Given the description of an element on the screen output the (x, y) to click on. 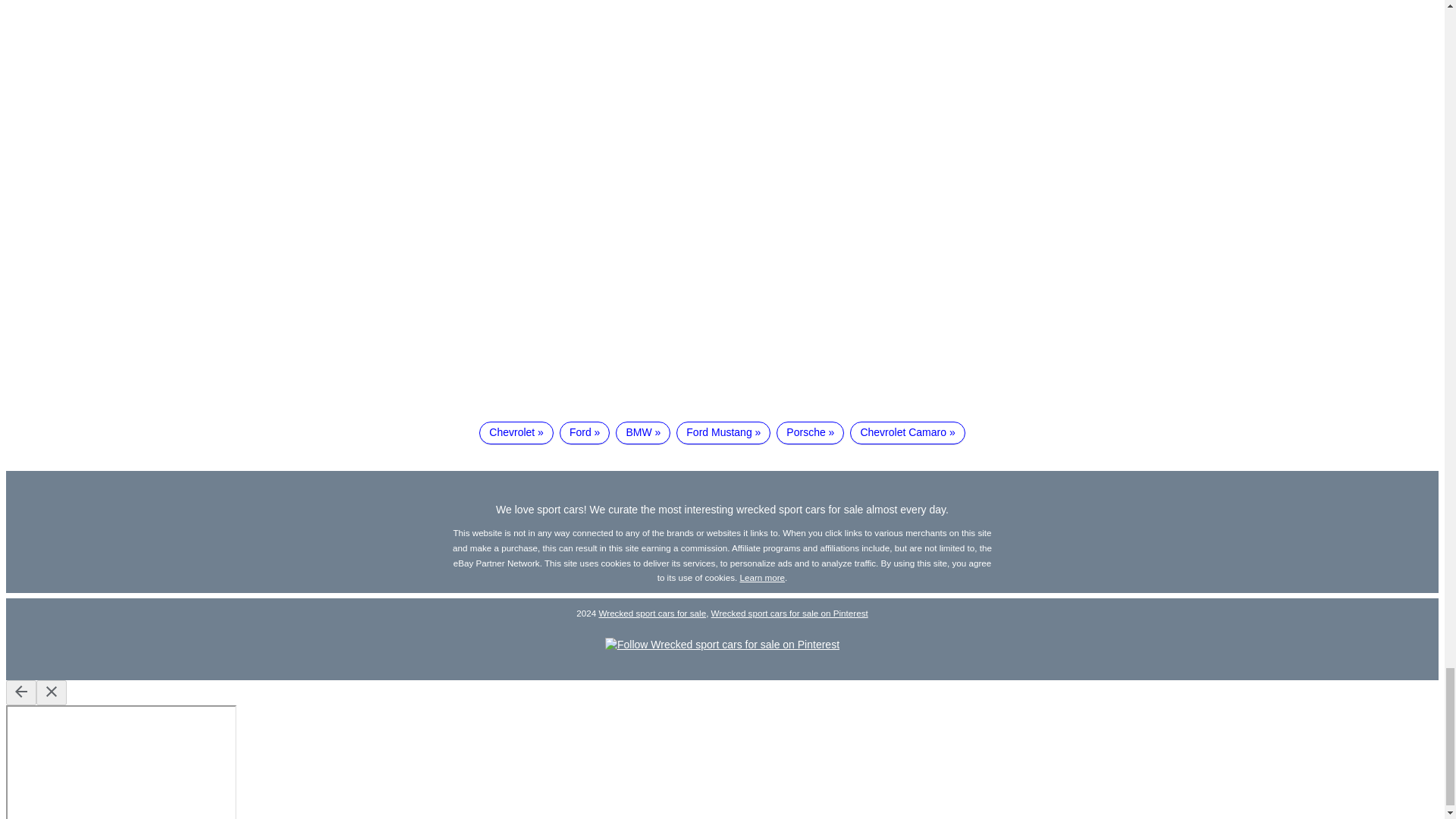
Porsche (810, 432)
Ford Mustang (723, 432)
Learn more (762, 577)
Follow Wrecked sport cars for sale on Pinterest (722, 644)
Wrecked sport cars for sale on Pinterest (789, 613)
Chevrolet (516, 432)
Chevrolet Camaro (906, 432)
Ford (584, 432)
Wrecked sport cars for sale (652, 613)
BMW (642, 432)
